Given the description of an element on the screen output the (x, y) to click on. 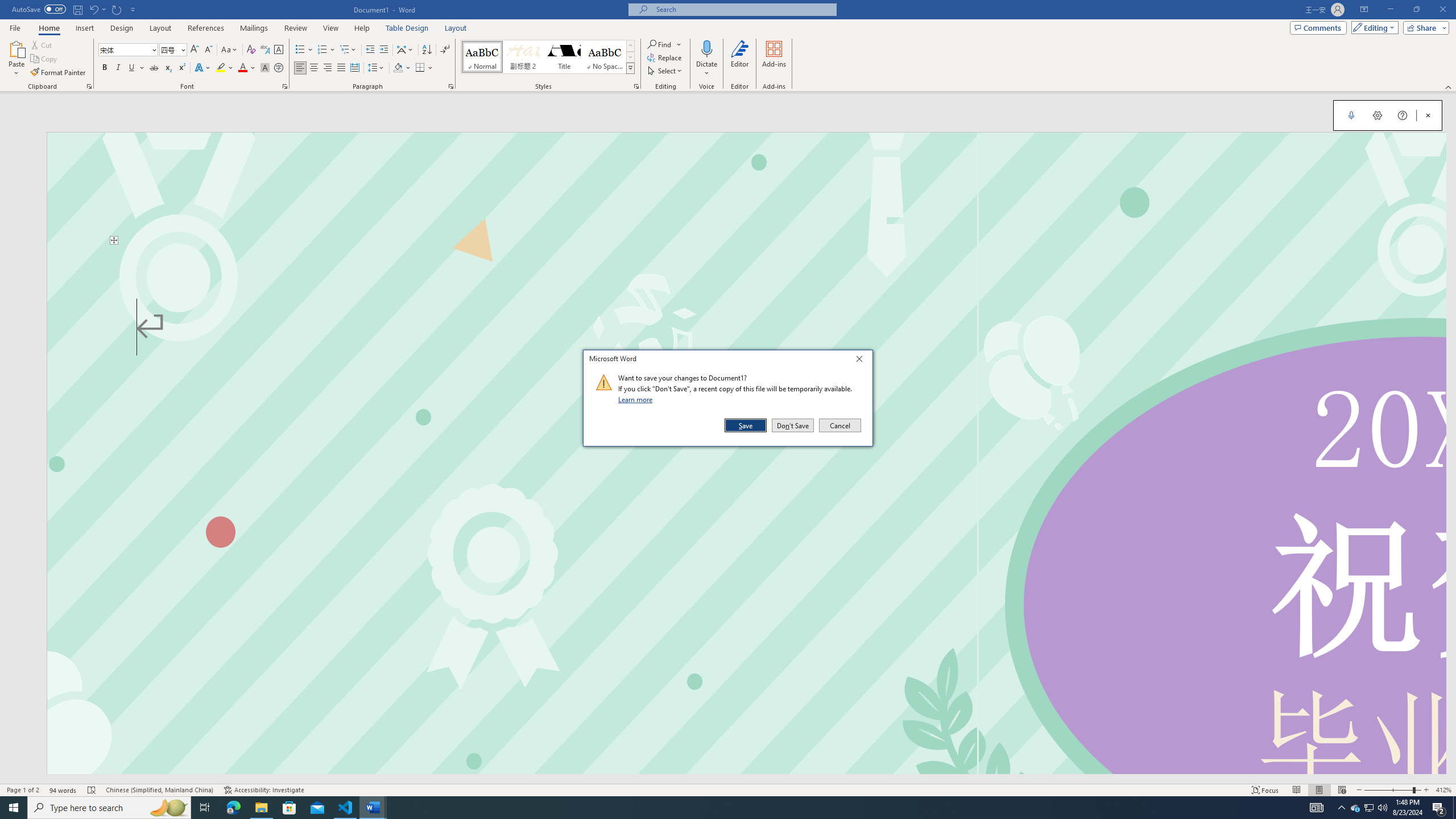
Start (13, 807)
Font Color Red (241, 67)
Start Dictation (1350, 115)
File Explorer - 1 running window (261, 807)
